Given the description of an element on the screen output the (x, y) to click on. 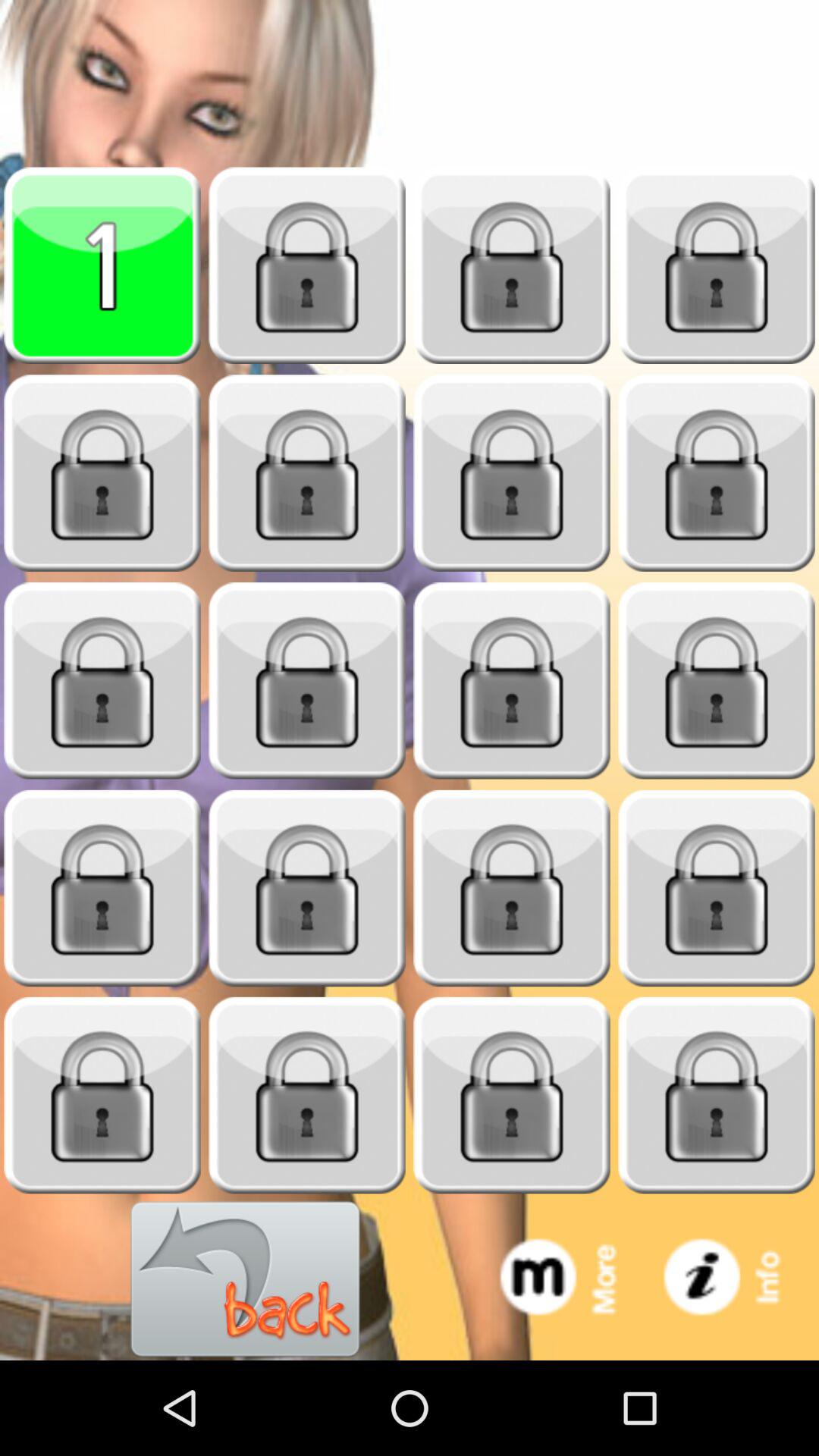
blok (511, 265)
